Given the description of an element on the screen output the (x, y) to click on. 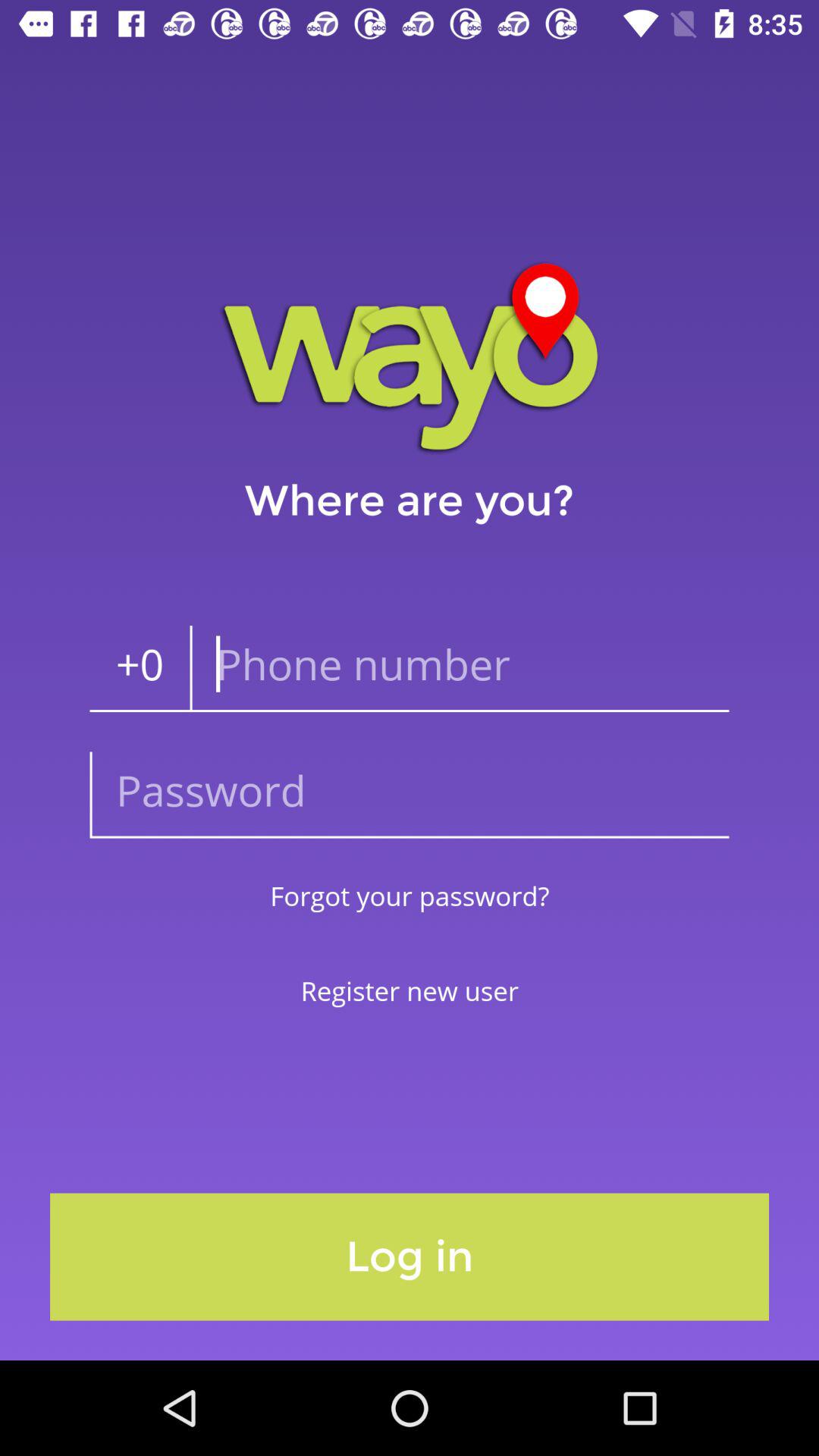
press the icon to the right of the +0 item (459, 668)
